Given the description of an element on the screen output the (x, y) to click on. 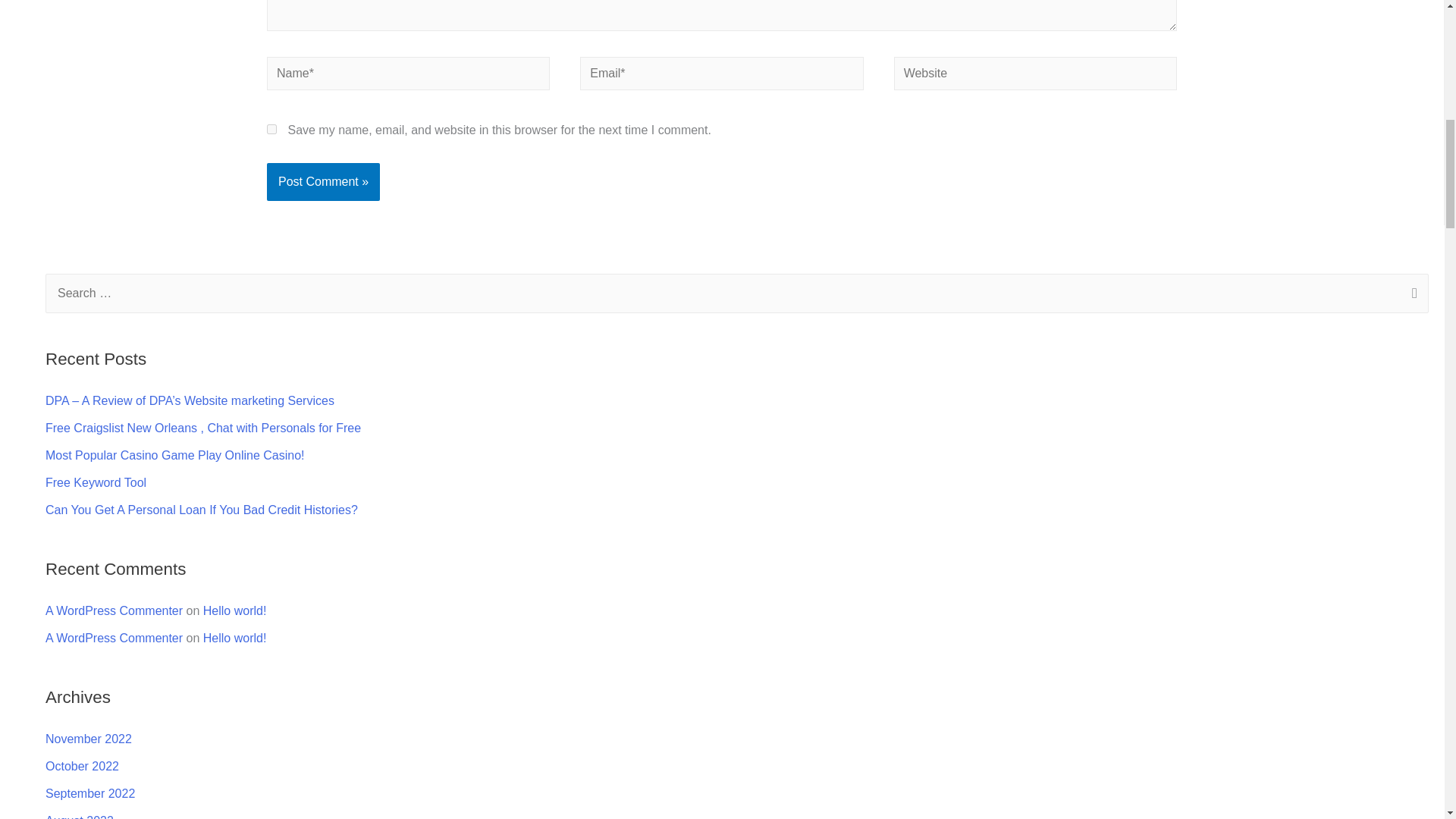
yes (271, 129)
